Given the description of an element on the screen output the (x, y) to click on. 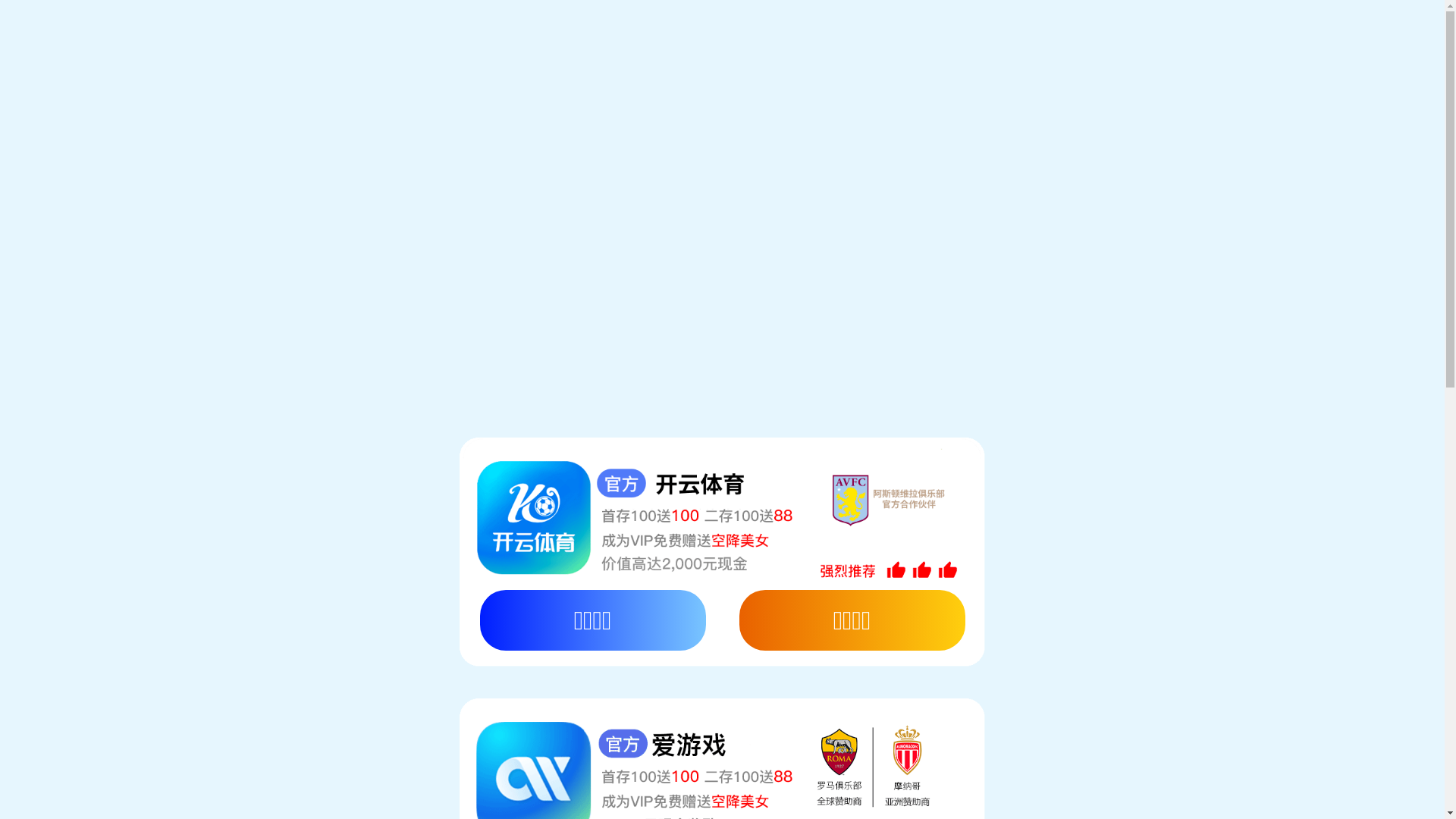
JAGGER Element type: text (806, 118)
